Given the description of an element on the screen output the (x, y) to click on. 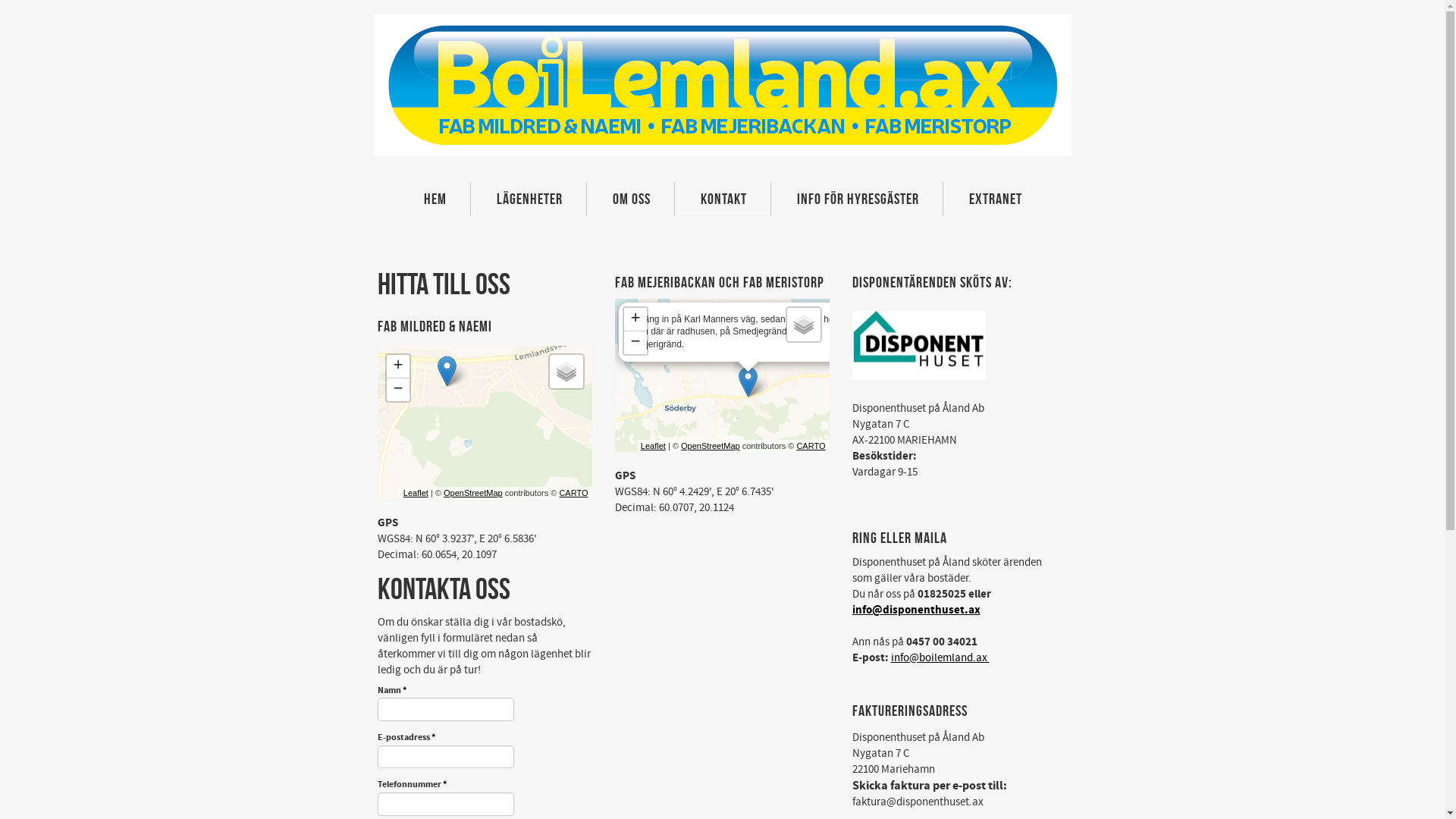
Layers Element type: hover (565, 371)
OpenStreetMap Element type: text (472, 492)
CARTO Element type: text (810, 445)
OpenStreetMap Element type: text (710, 445)
+ Element type: text (634, 319)
info@disponenthuset.ax Element type: text (916, 610)
KONTAKT Element type: text (722, 199)
CARTO Element type: text (572, 492)
HEM Element type: text (434, 199)
+ Element type: text (397, 366)
Leaflet Element type: text (652, 445)
info@boilemland.ax  Element type: text (939, 657)
Leaflet Element type: text (415, 492)
EXTRANET Element type: text (994, 199)
Layers Element type: hover (803, 324)
OM OSS Element type: text (630, 199)
